Given the description of an element on the screen output the (x, y) to click on. 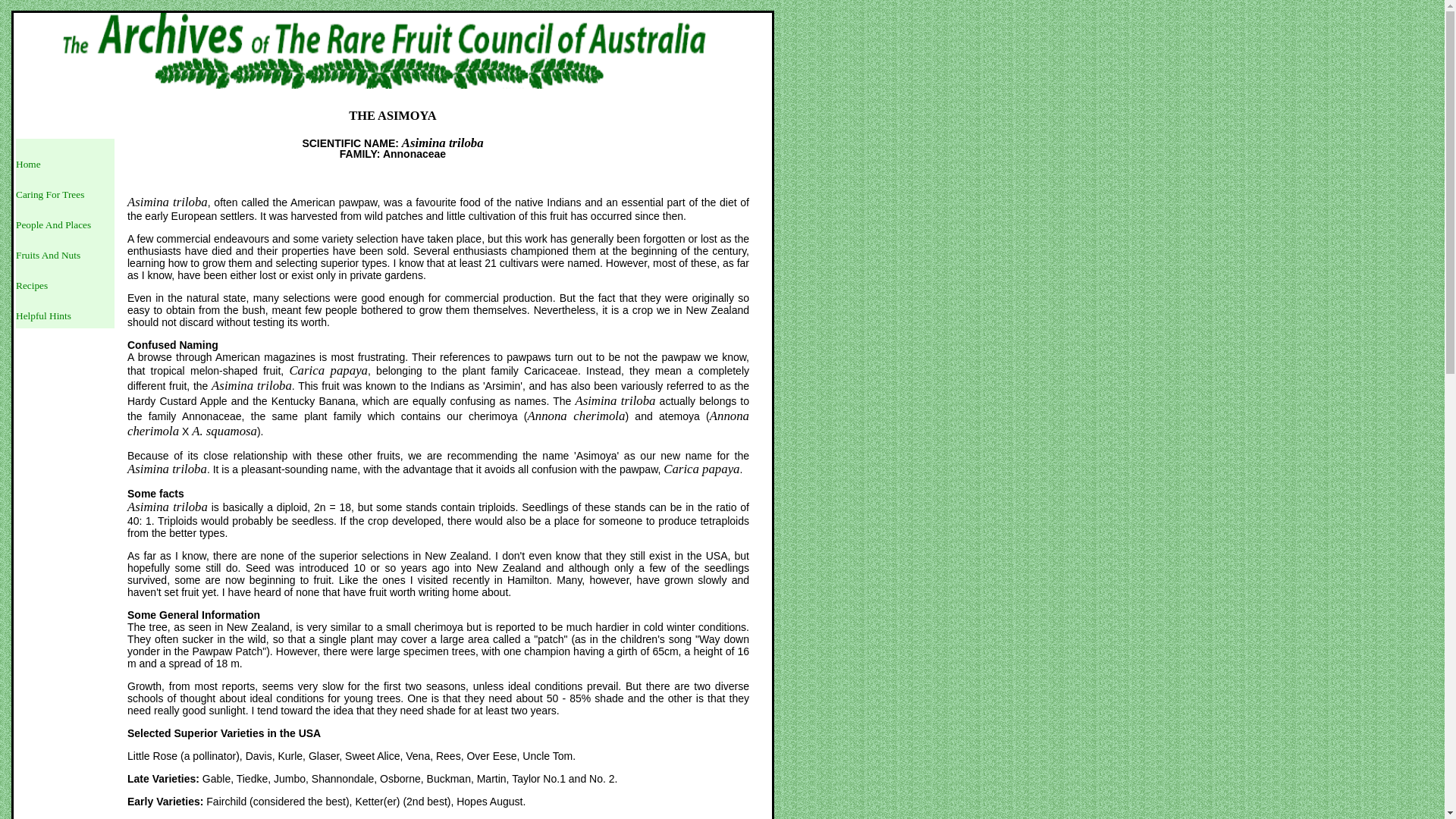
Helpful Hints Element type: text (43, 315)
Fruits And Nuts Element type: text (47, 254)
Recipes Element type: text (31, 285)
Caring For Trees Element type: text (49, 194)
sitename Element type: hover (392, 54)
People And Places Element type: text (53, 224)
Home Element type: text (27, 163)
